Given the description of an element on the screen output the (x, y) to click on. 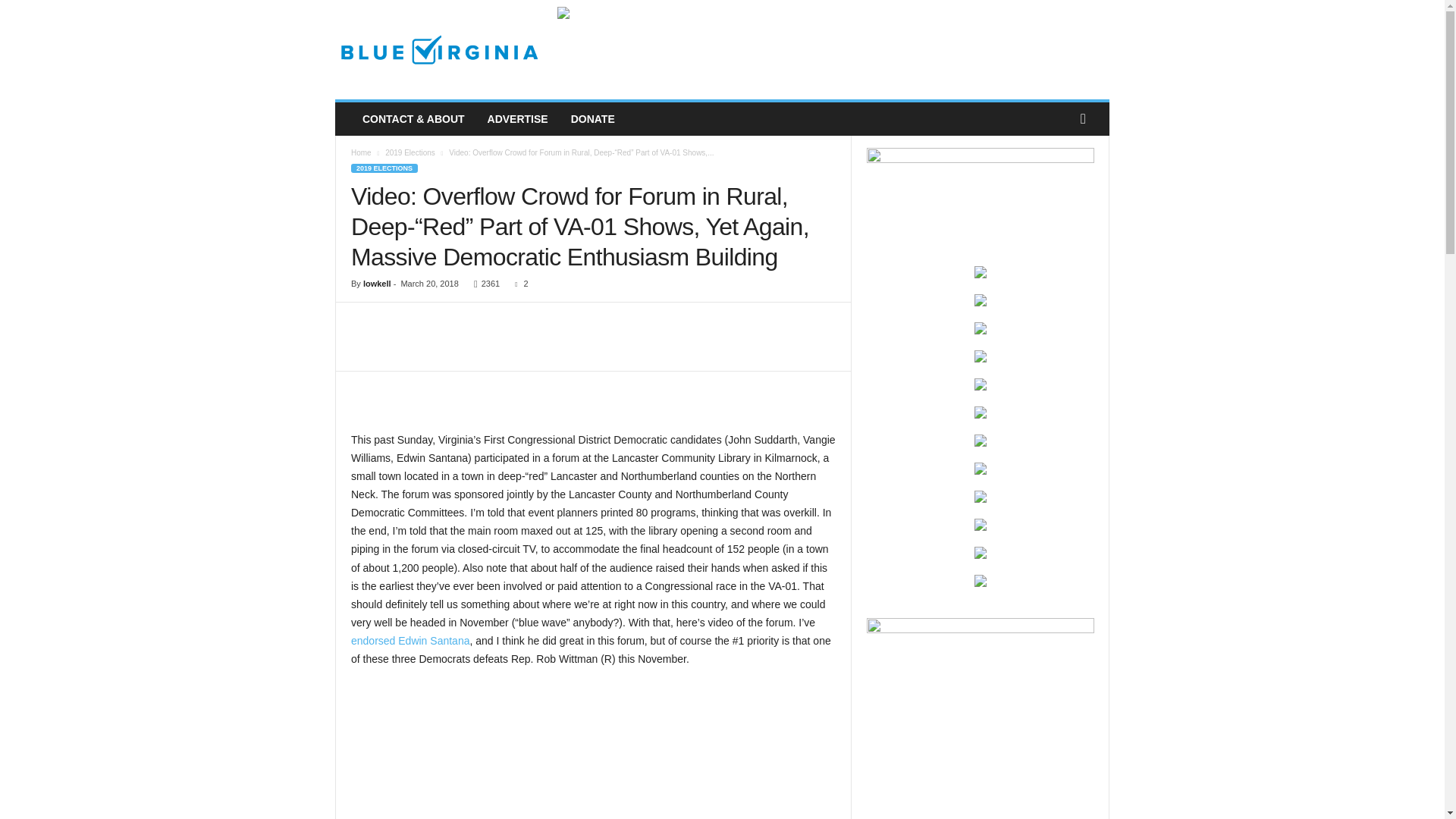
2 (517, 283)
ADVERTISE (517, 118)
endorsed Edwin Santana (409, 640)
View all posts in 2019 Elections (410, 152)
DONATE (592, 118)
Blue Virginia (437, 49)
2019 Elections (410, 152)
Home (360, 152)
2019 ELECTIONS (383, 167)
lowkell (376, 283)
